Given the description of an element on the screen output the (x, y) to click on. 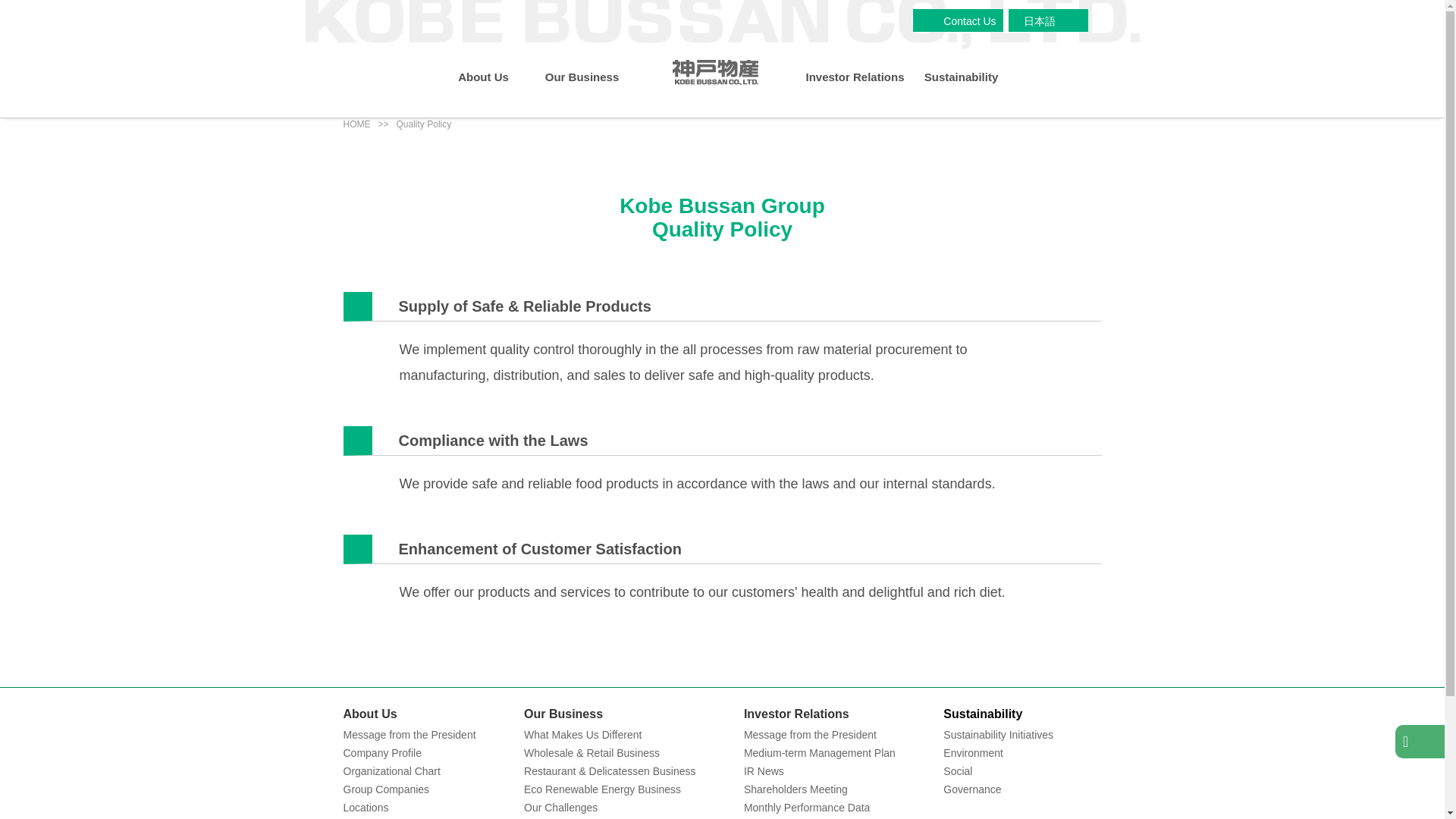
Our Business (581, 79)
Contact Us (966, 21)
Sustainability (960, 79)
About Us (482, 79)
Investor Relations (854, 79)
